Given the description of an element on the screen output the (x, y) to click on. 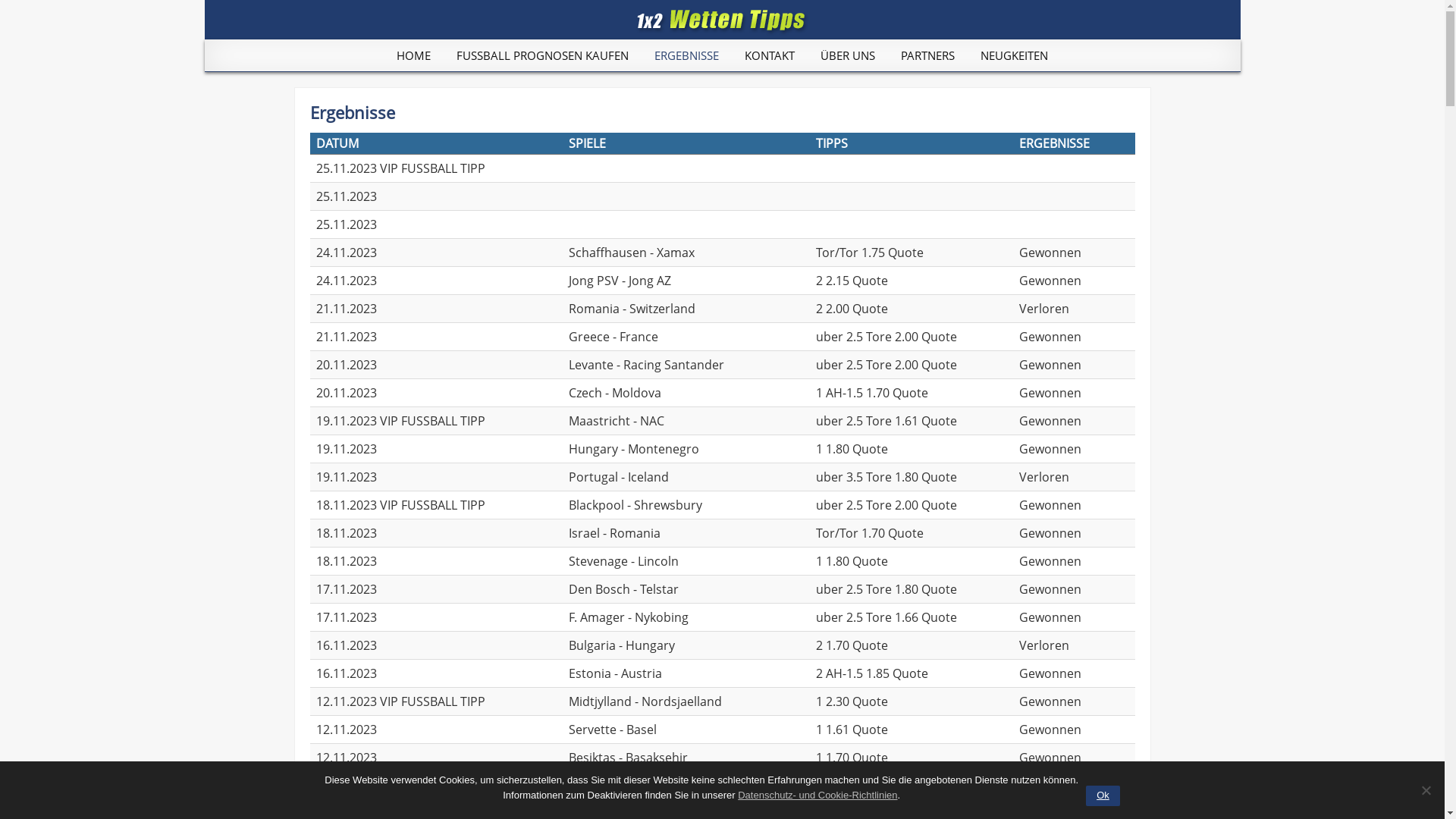
FUSSBALL PROGNOSEN KAUFEN Element type: text (542, 55)
HOME Element type: text (413, 55)
PARTNERS Element type: text (927, 55)
Datenschutz- und Cookie-Richtlinien Element type: text (817, 794)
Ok Element type: text (1102, 795)
No Element type: hover (1425, 789)
KONTAKT Element type: text (769, 55)
ERGEBNISSE Element type: text (686, 55)
NEUGKEITEN Element type: text (1013, 55)
